Given the description of an element on the screen output the (x, y) to click on. 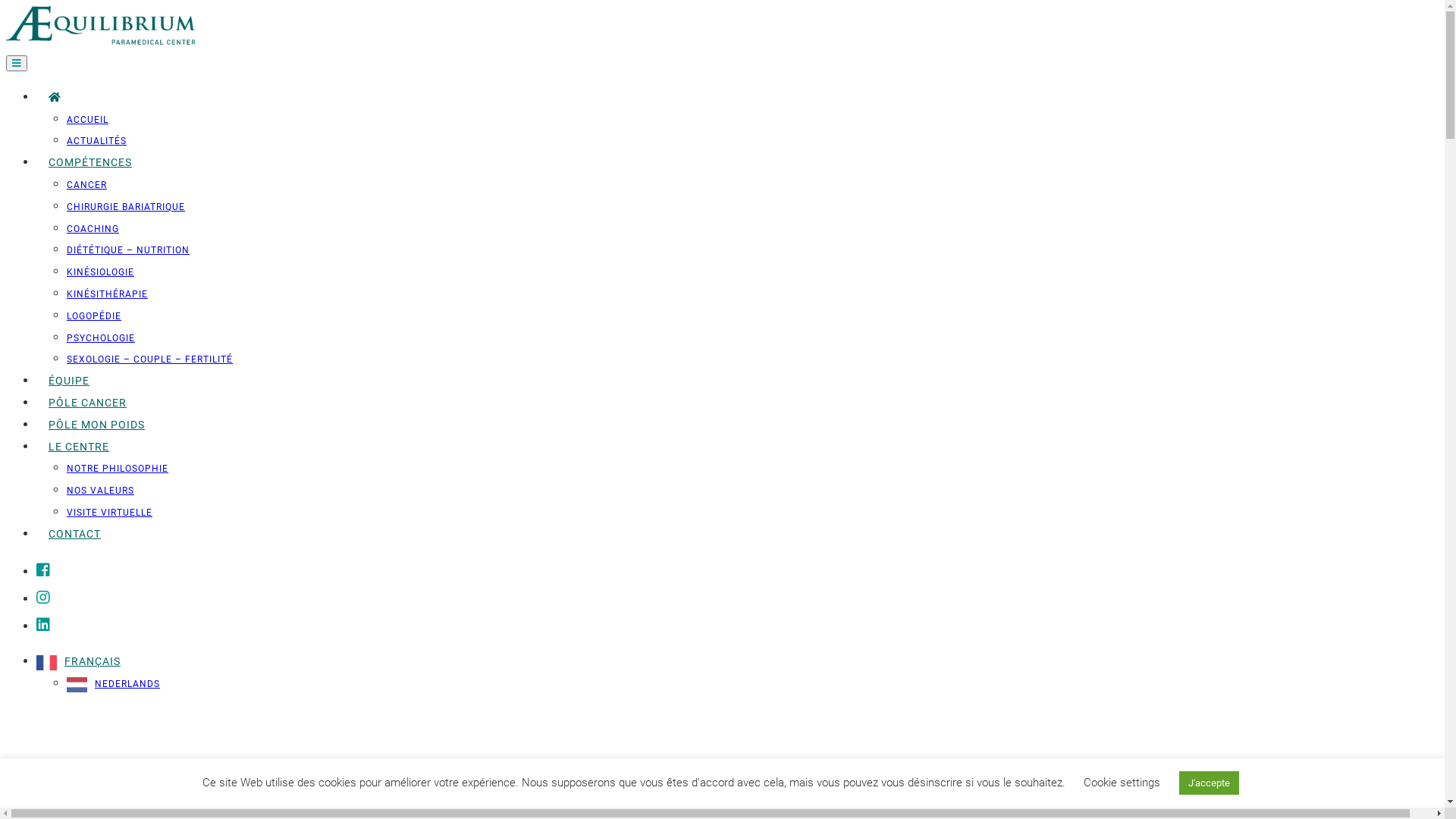
CHIRURGIE BARIATRIQUE Element type: text (125, 206)
NOTRE PHILOSOPHIE Element type: text (117, 468)
CANCER Element type: text (86, 184)
Cookie settings Element type: text (1120, 782)
LE CENTRE Element type: text (78, 446)
VISITE VIRTUELLE Element type: text (109, 512)
J'accepte Element type: text (1208, 782)
NOS VALEURS Element type: text (100, 490)
CONTACT Element type: text (74, 534)
ACCUEIL Element type: text (87, 119)
NEDERLANDS Element type: text (113, 683)
COACHING Element type: text (92, 228)
PSYCHOLOGIE Element type: text (100, 337)
